Given the description of an element on the screen output the (x, y) to click on. 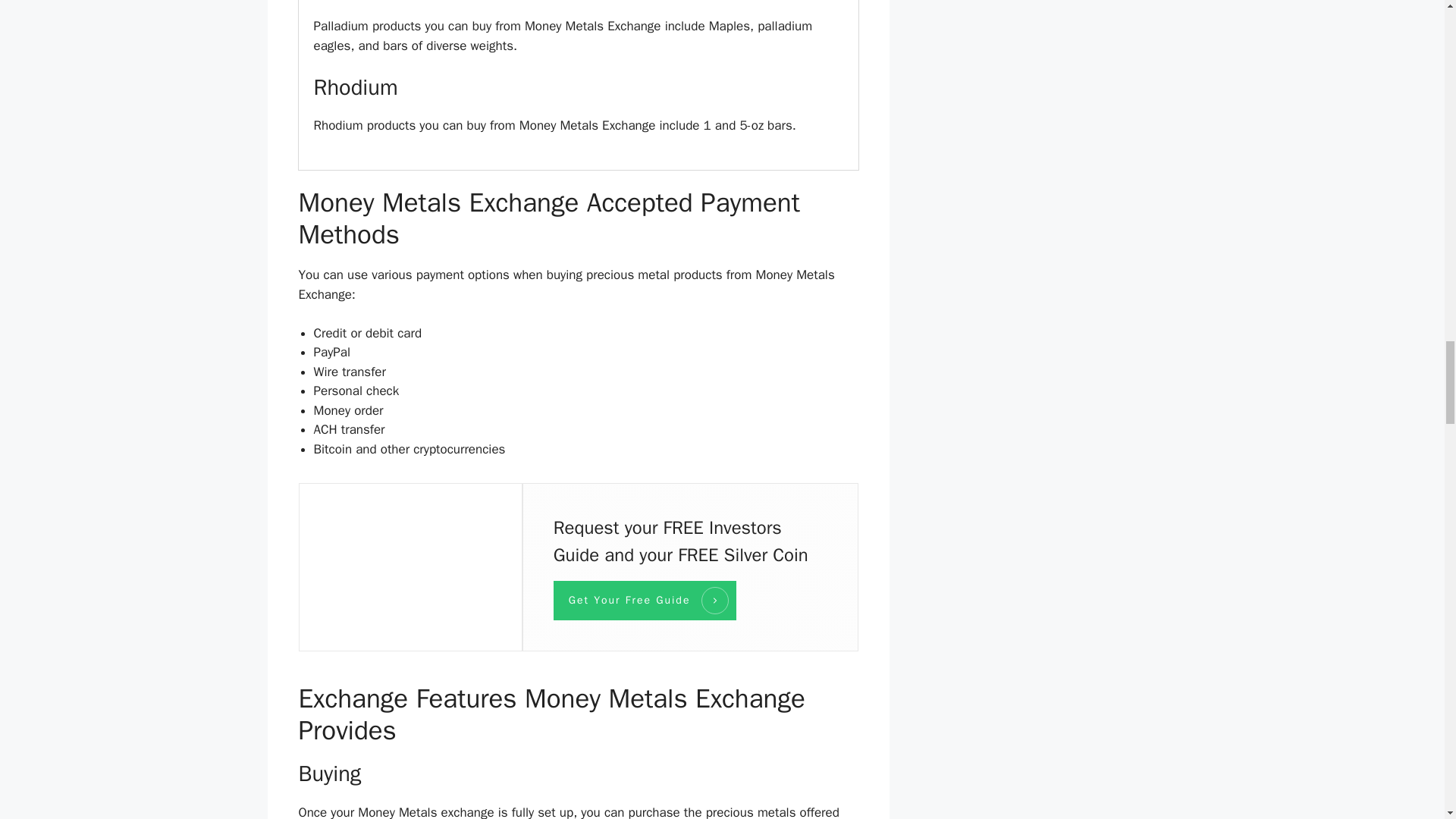
Get Your Free Guide (644, 599)
